Given the description of an element on the screen output the (x, y) to click on. 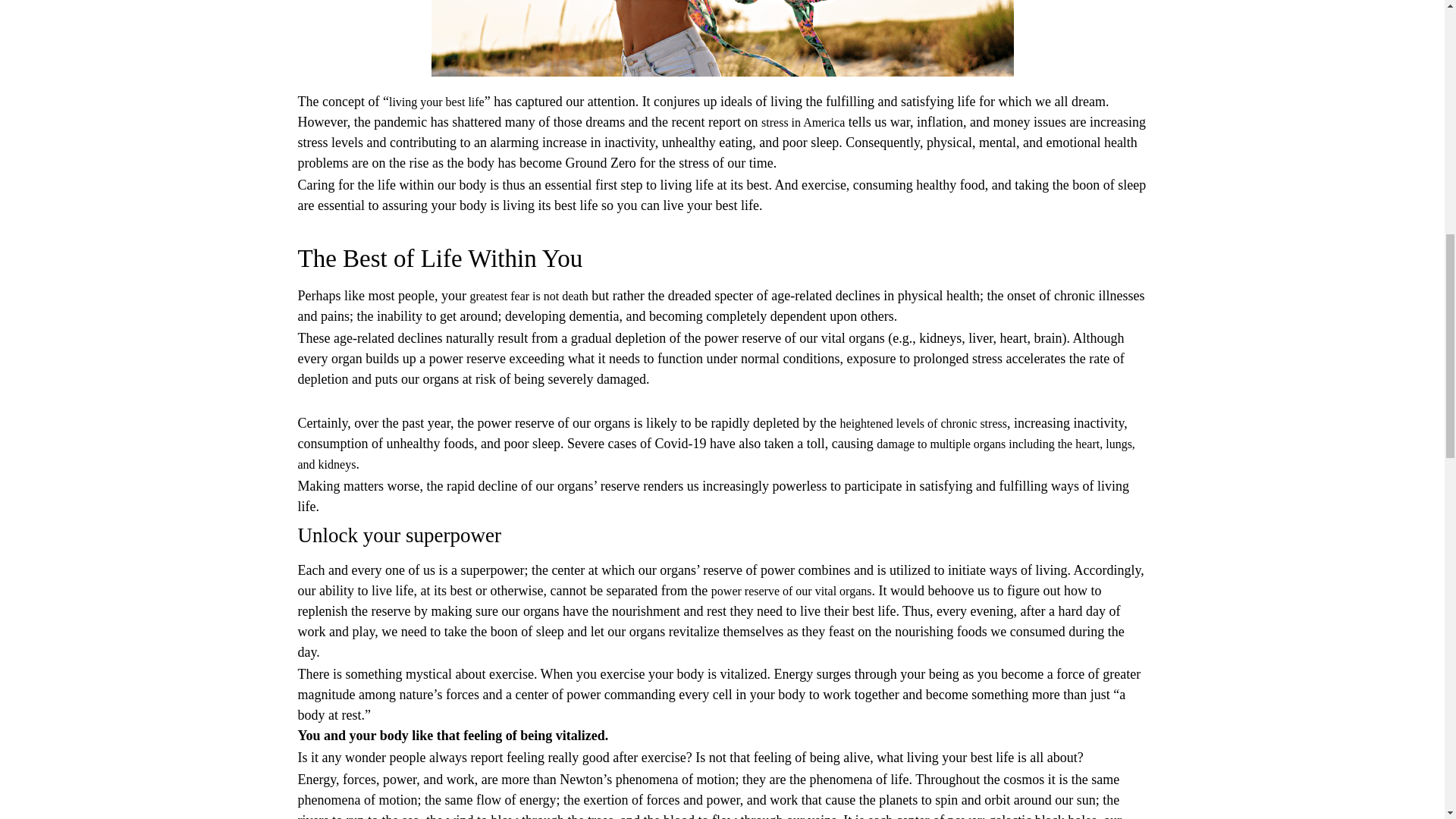
stress in America (802, 122)
greatest fear is not death (528, 295)
power reserve of our vital organs (791, 590)
living your best life (436, 101)
heightened levels of chronic stress (923, 422)
